Given the description of an element on the screen output the (x, y) to click on. 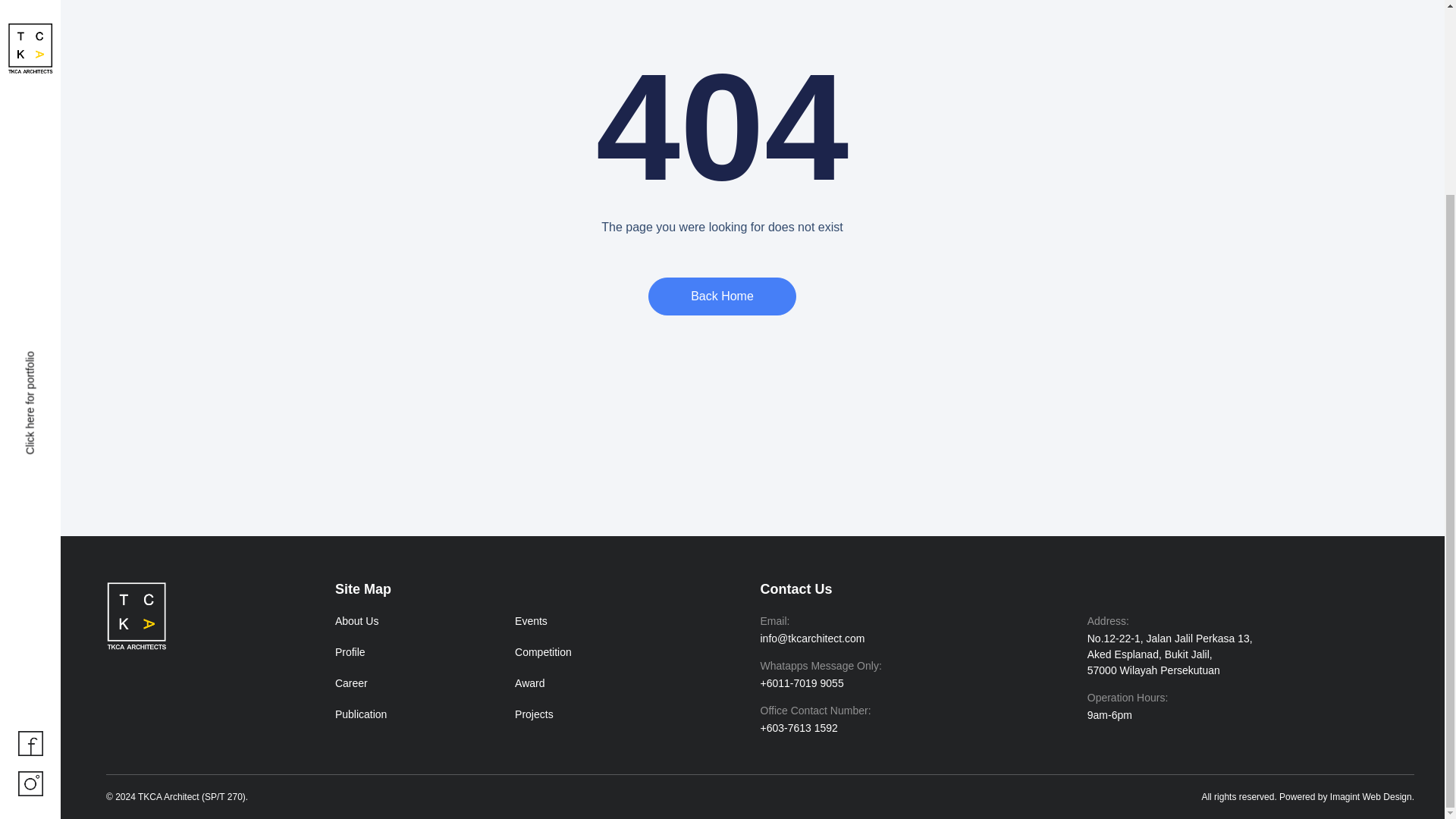
Career (351, 683)
Competition (543, 652)
Publication (360, 714)
Profile (349, 652)
Click here for portfolio (76, 111)
Award (529, 683)
Events (531, 621)
Imagint Web Design (1371, 796)
Projects (534, 714)
